Given the description of an element on the screen output the (x, y) to click on. 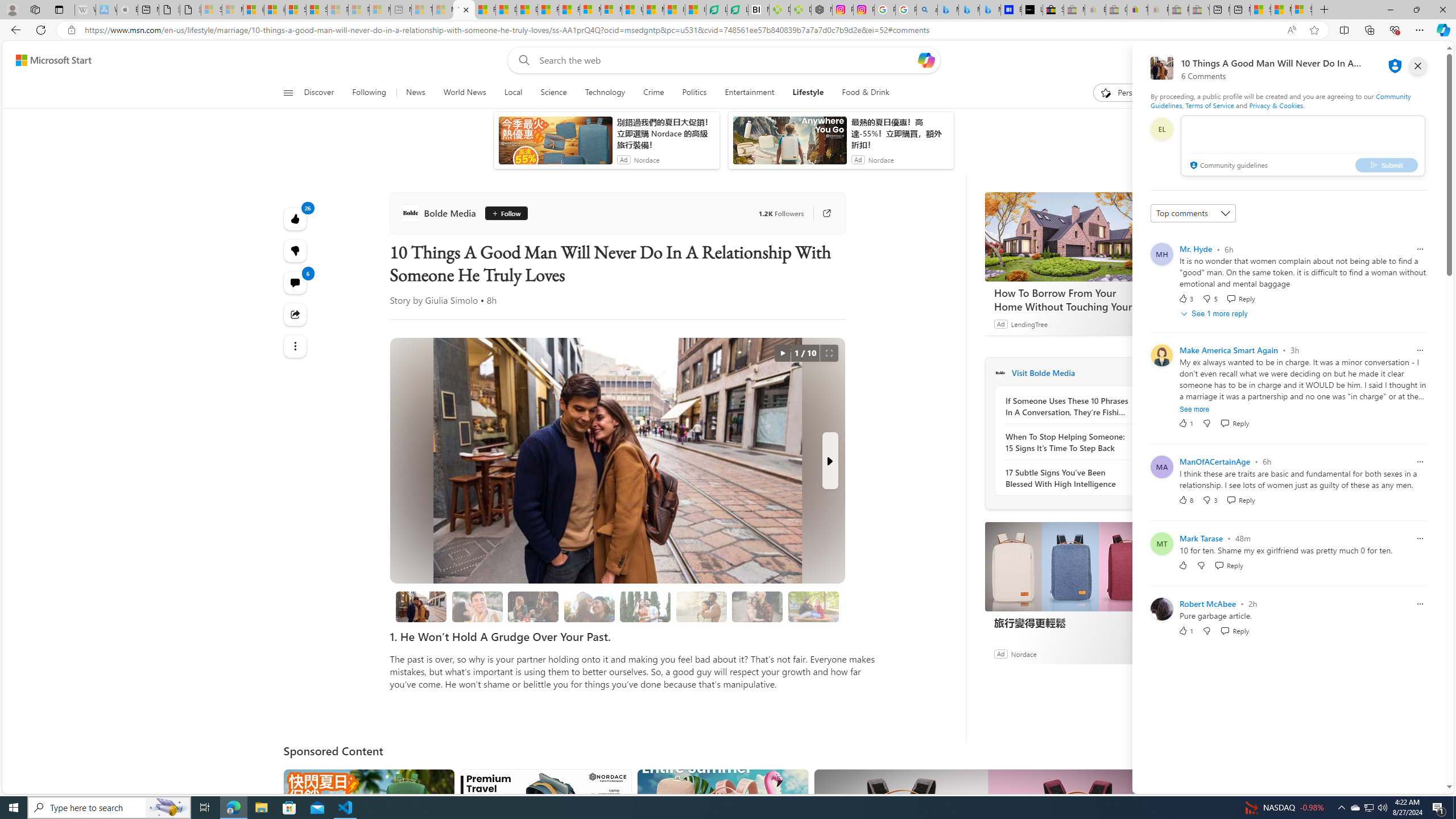
Food & Drink (865, 92)
Ad (999, 653)
See 1 more reply (1215, 313)
Drinking tea every day is proven to delay biological aging (527, 9)
8 Like (1185, 499)
Profile Picture (1161, 608)
Ad Choice (1142, 653)
News (415, 92)
New tab - Sleeping (400, 9)
Open settings (1420, 60)
Make America Smart Again (1228, 349)
